Given the description of an element on the screen output the (x, y) to click on. 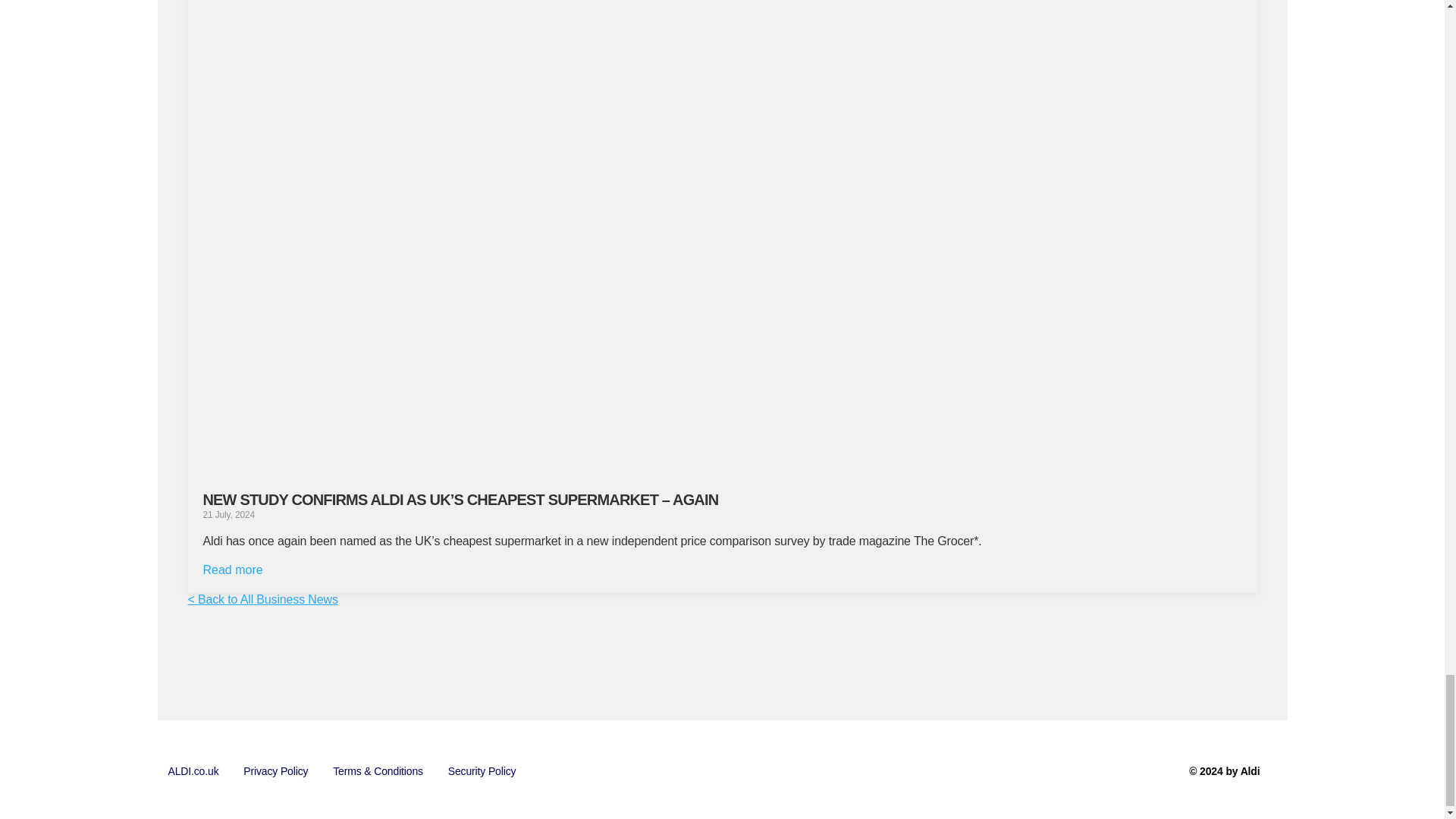
Security Policy (482, 771)
Privacy Policy (275, 771)
ALDI.co.uk (193, 771)
